Given the description of an element on the screen output the (x, y) to click on. 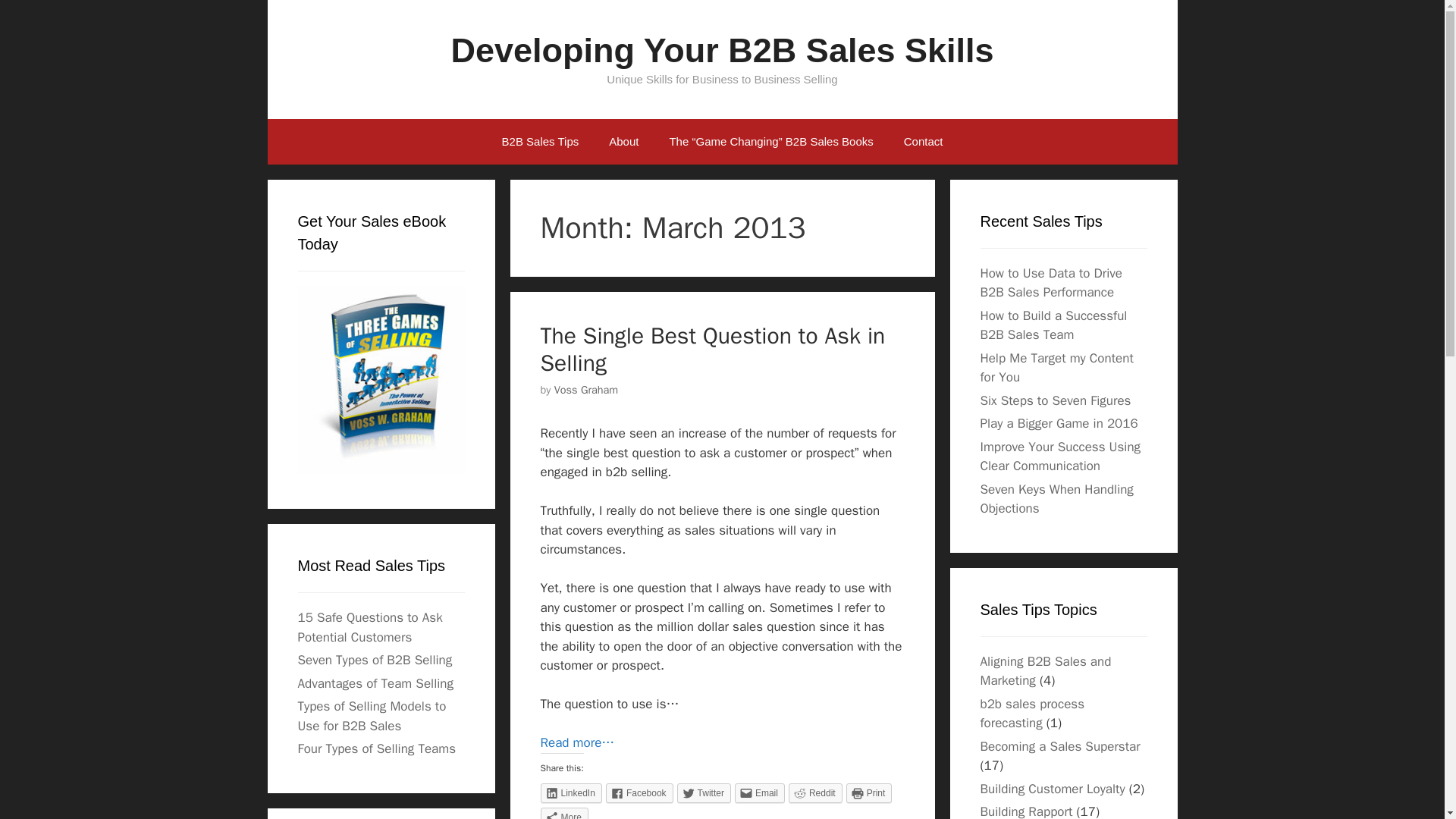
Email (759, 792)
Seven Types of B2B Selling (374, 659)
Print (868, 792)
Click to print (868, 792)
Reddit (816, 792)
Facebook (638, 792)
15 Safe Questions to Ask Potential Customers (369, 627)
Contact (923, 140)
About (623, 140)
Four Types of Selling Teams (376, 748)
